Given the description of an element on the screen output the (x, y) to click on. 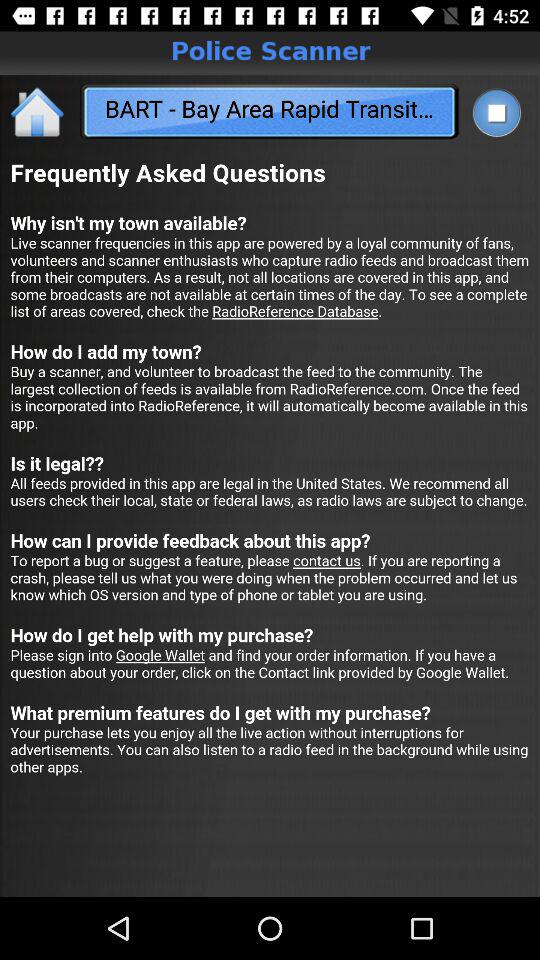
go home (38, 111)
